Given the description of an element on the screen output the (x, y) to click on. 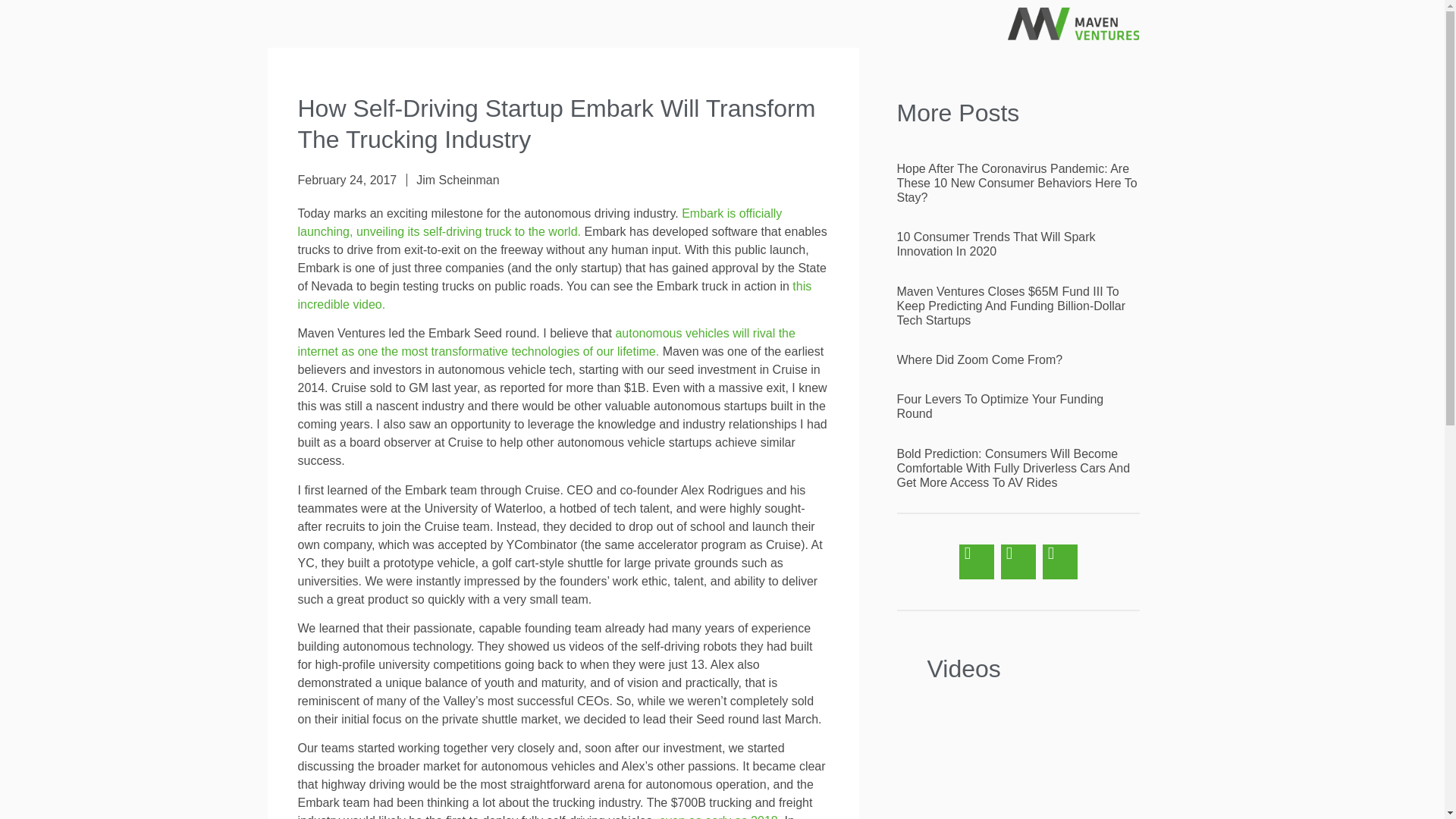
Four Levers To Optimize Your Funding Round (999, 406)
Where Did Zoom Come From? (979, 359)
February 24, 2017 (346, 180)
10 Consumer Trends That Will Spark Innovation In 2020 (995, 243)
even as early as 2018. (719, 816)
Jim Scheinman (457, 180)
this incredible video. (553, 295)
